Given the description of an element on the screen output the (x, y) to click on. 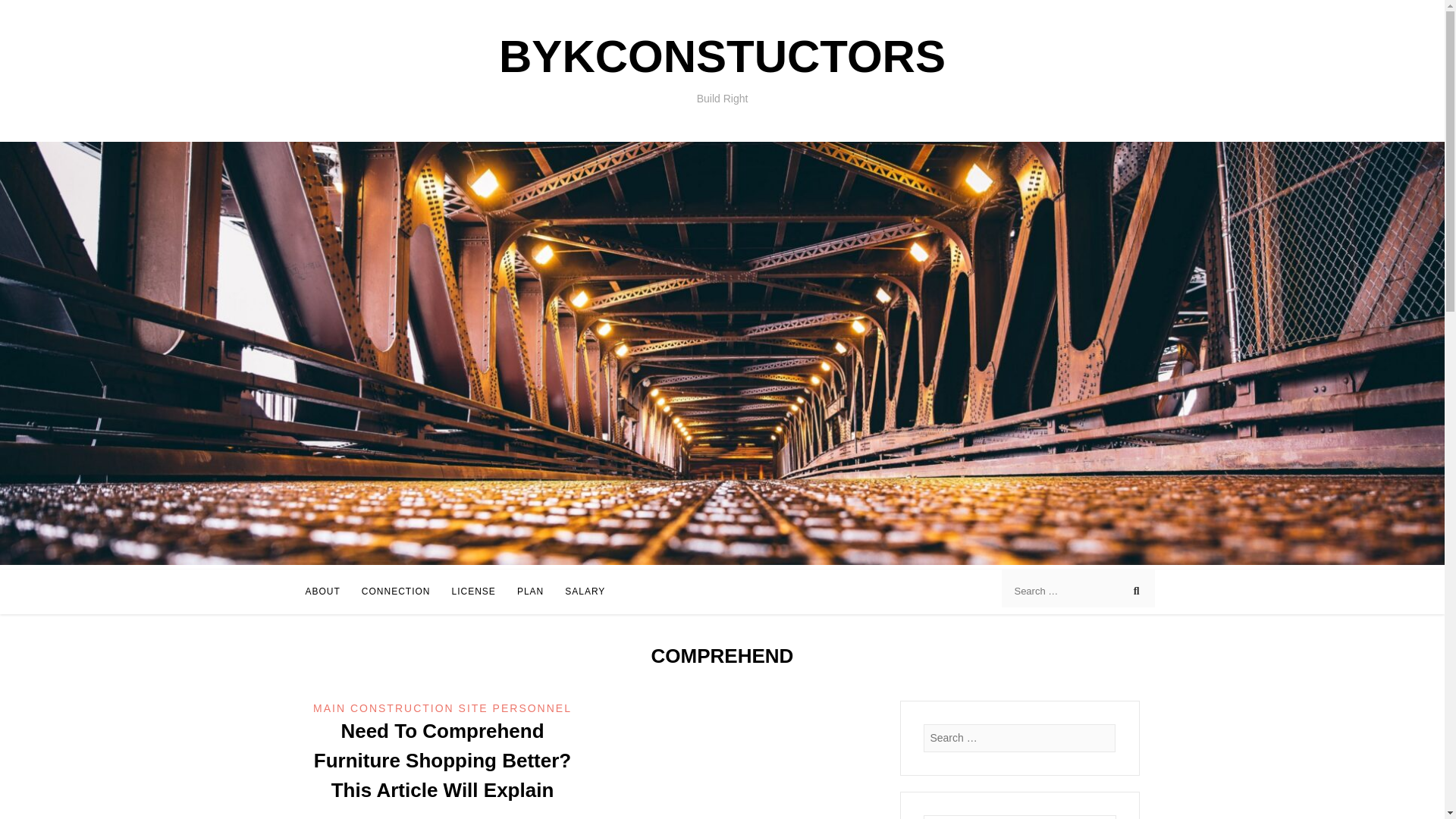
SALARY (584, 591)
MAIN CONSTRUCTION SITE PERSONNEL (442, 707)
BYKCONSTUCTORS (721, 56)
CONNECTION (395, 591)
LICENSE (473, 591)
Search (26, 12)
